Given the description of an element on the screen output the (x, y) to click on. 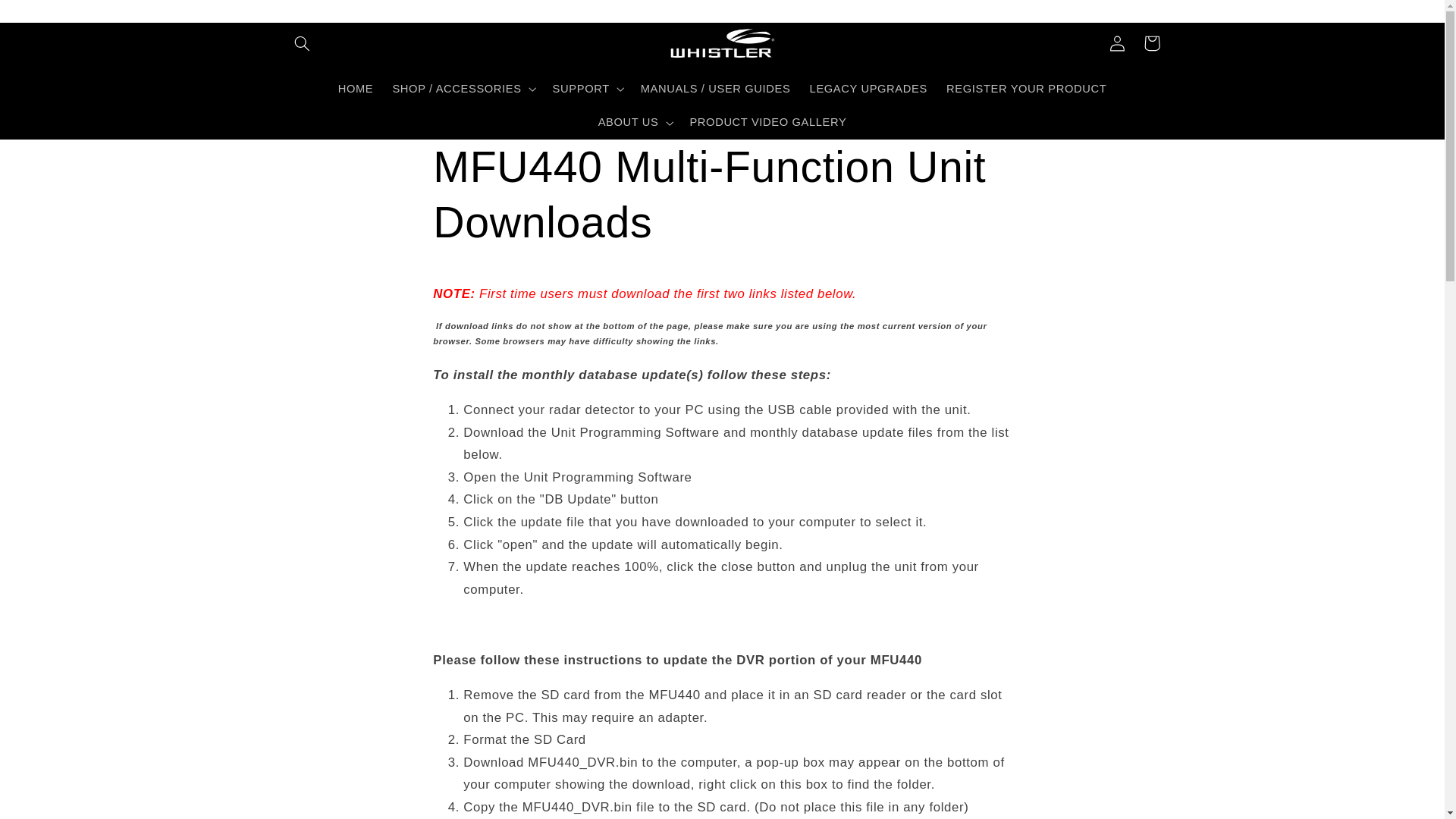
Skip to content (48, 18)
